Given the description of an element on the screen output the (x, y) to click on. 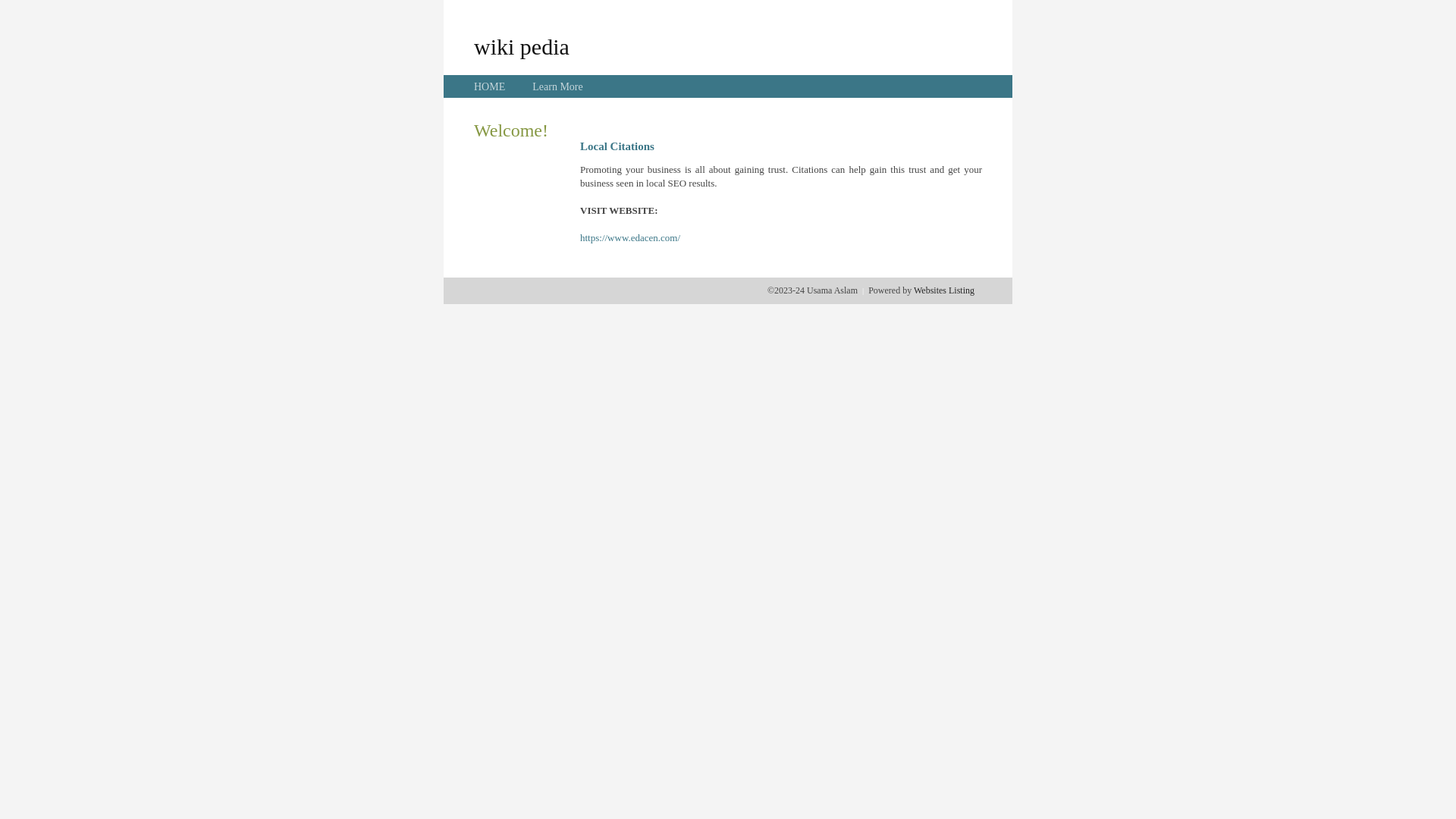
Learn More Element type: text (557, 86)
Websites Listing Element type: text (943, 290)
https://www.edacen.com/ Element type: text (630, 237)
HOME Element type: text (489, 86)
wiki pedia Element type: text (521, 46)
